Given the description of an element on the screen output the (x, y) to click on. 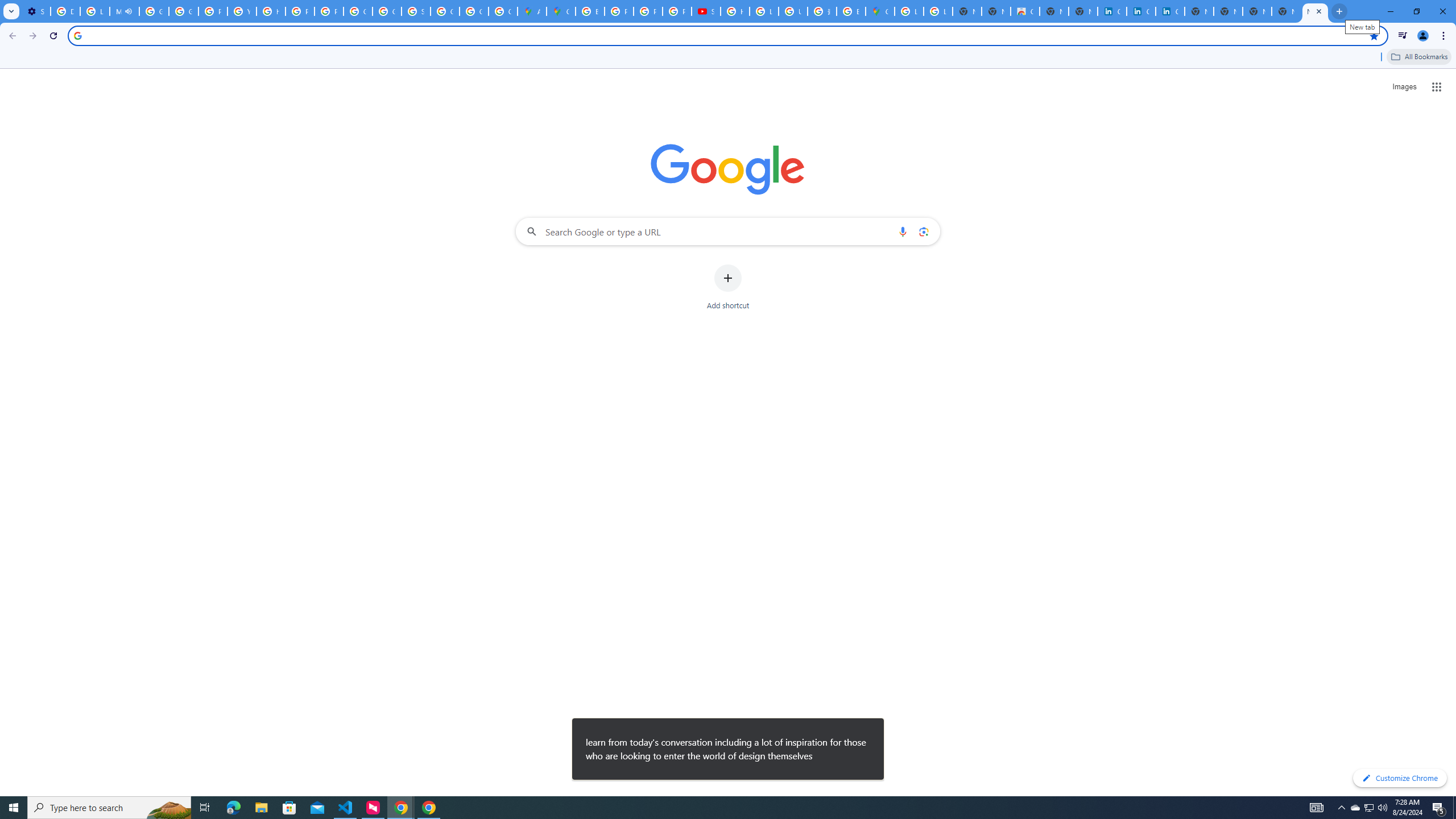
Delete photos & videos - Computer - Google Photos Help (65, 11)
